Given the description of an element on the screen output the (x, y) to click on. 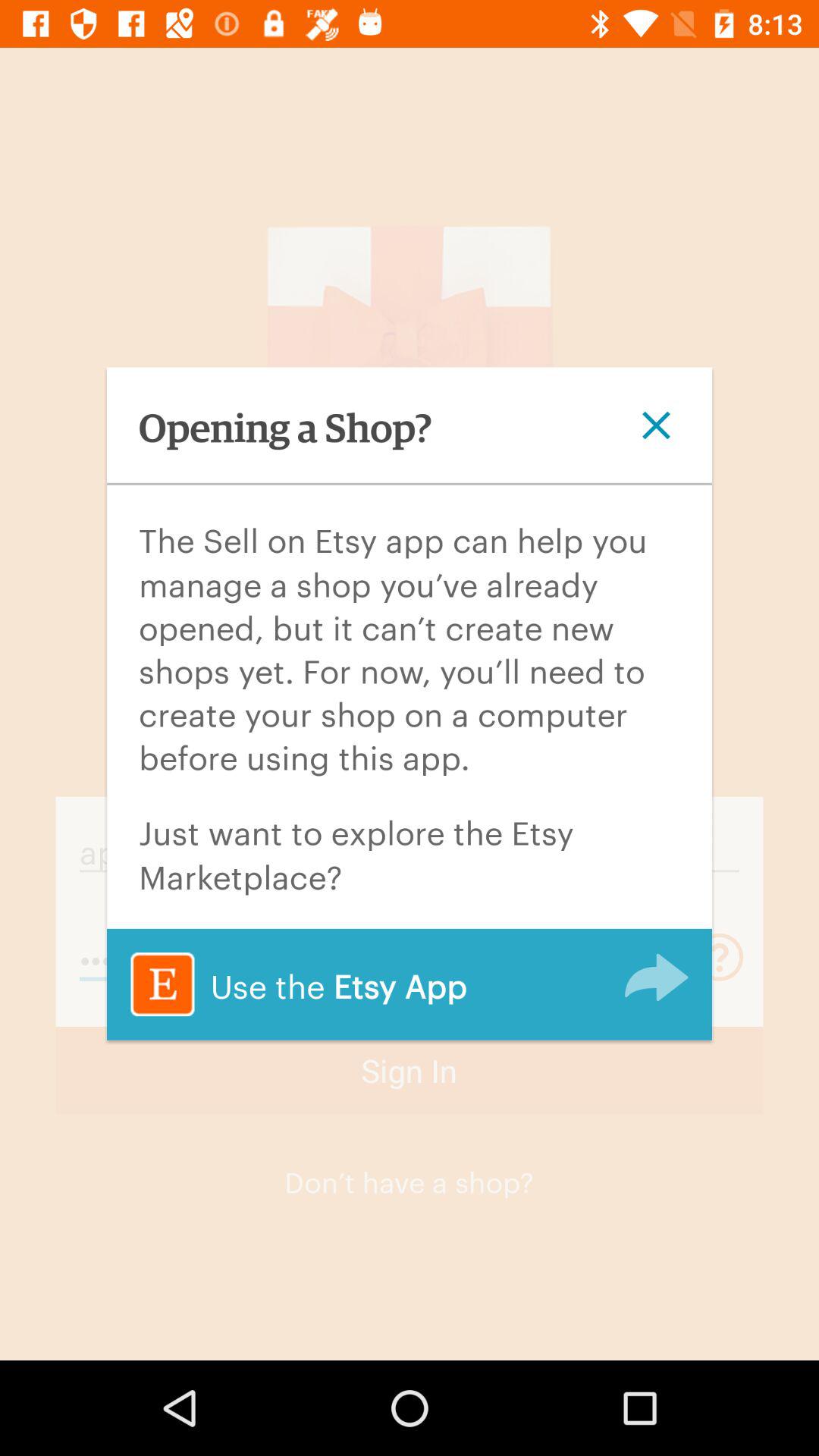
open item at the top right corner (656, 424)
